Given the description of an element on the screen output the (x, y) to click on. 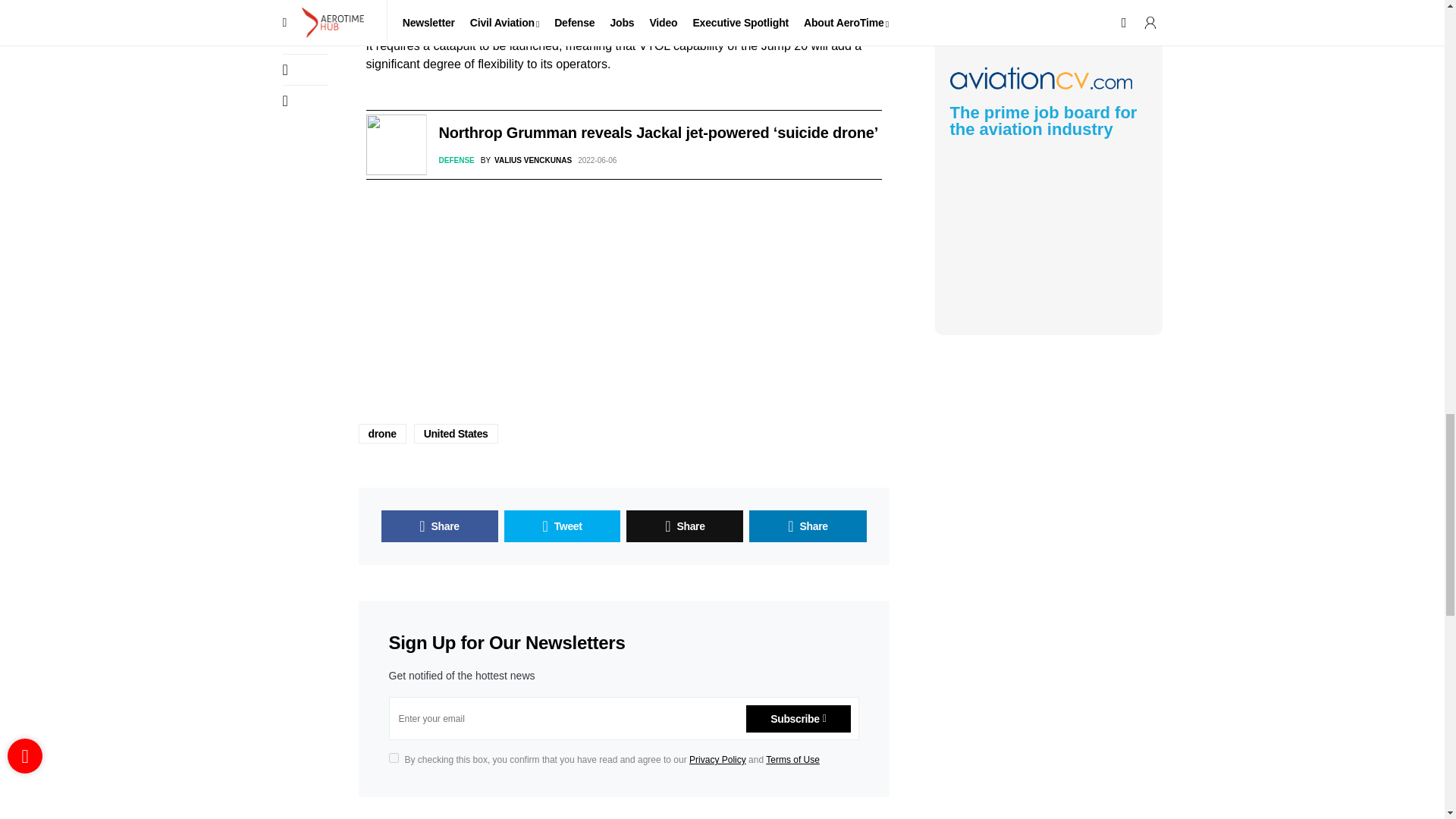
View all posts by Valius Venckunas (526, 160)
on (392, 757)
